Given the description of an element on the screen output the (x, y) to click on. 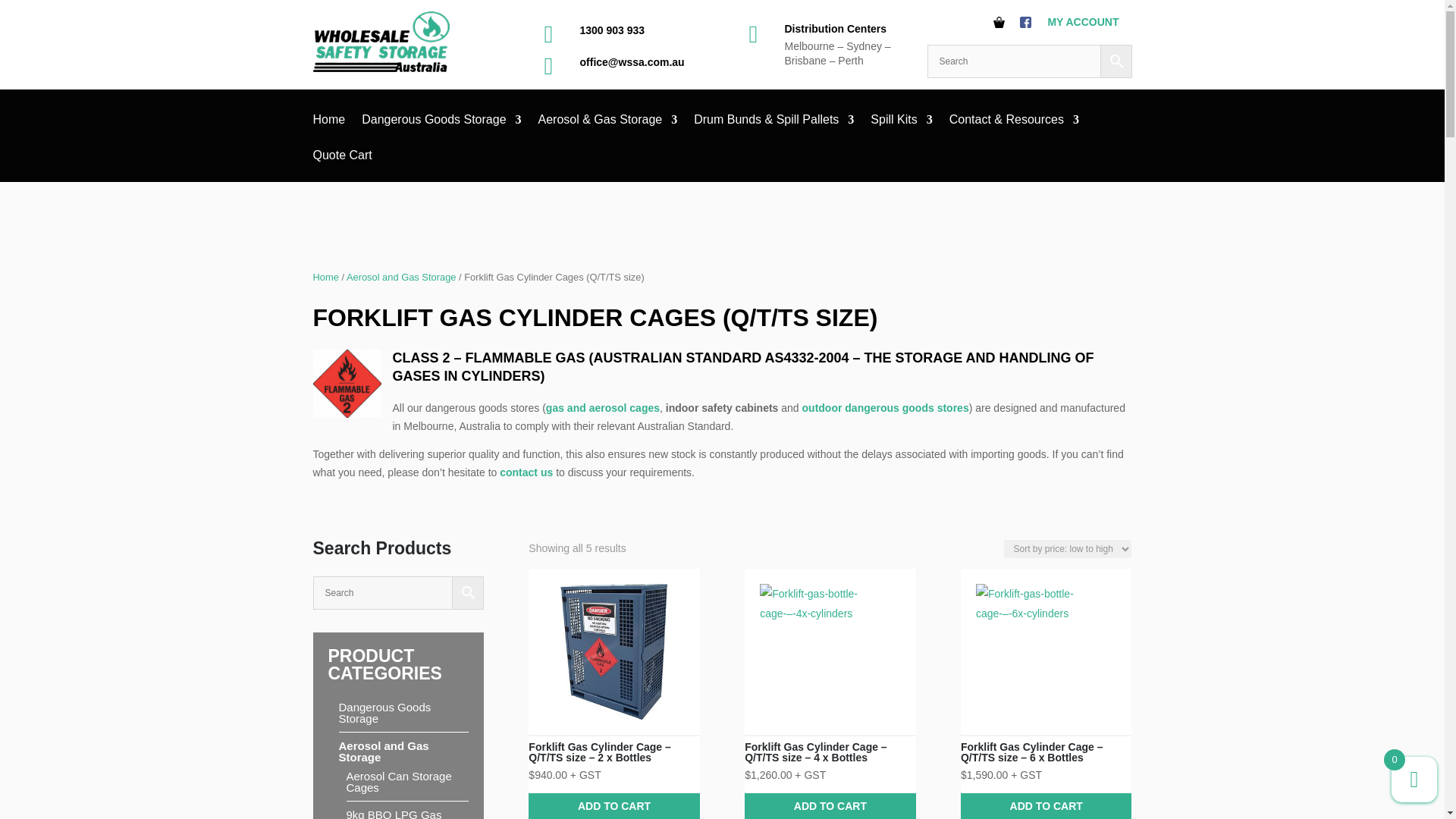
Dangerous Goods Storage (441, 130)
Spill Kits (900, 130)
Home (329, 130)
MY ACCOUNT (1082, 21)
